Given the description of an element on the screen output the (x, y) to click on. 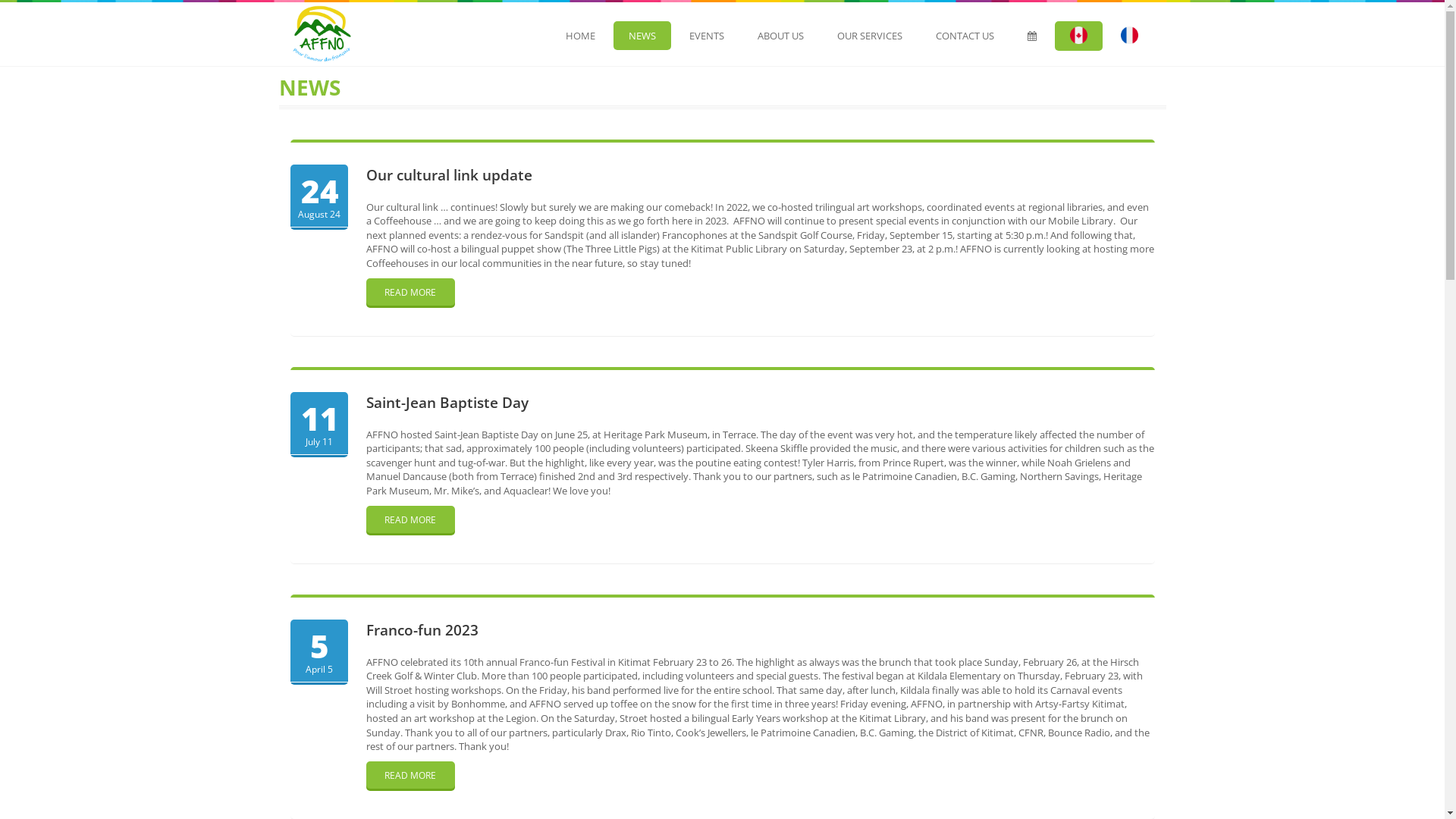
READ MORE Element type: text (409, 774)
Franco-fun 2023 Element type: text (421, 630)
EVENTS Element type: text (705, 35)
CONTACT US Element type: text (964, 35)
Our cultural link update Element type: text (448, 175)
ABOUT US Element type: text (779, 35)
HOME Element type: text (580, 35)
Saint-Jean Baptiste Day Element type: text (446, 402)
READ MORE Element type: text (409, 291)
READ MORE Element type: text (409, 519)
NEWS Element type: text (641, 35)
OUR SERVICES Element type: text (869, 35)
